Given the description of an element on the screen output the (x, y) to click on. 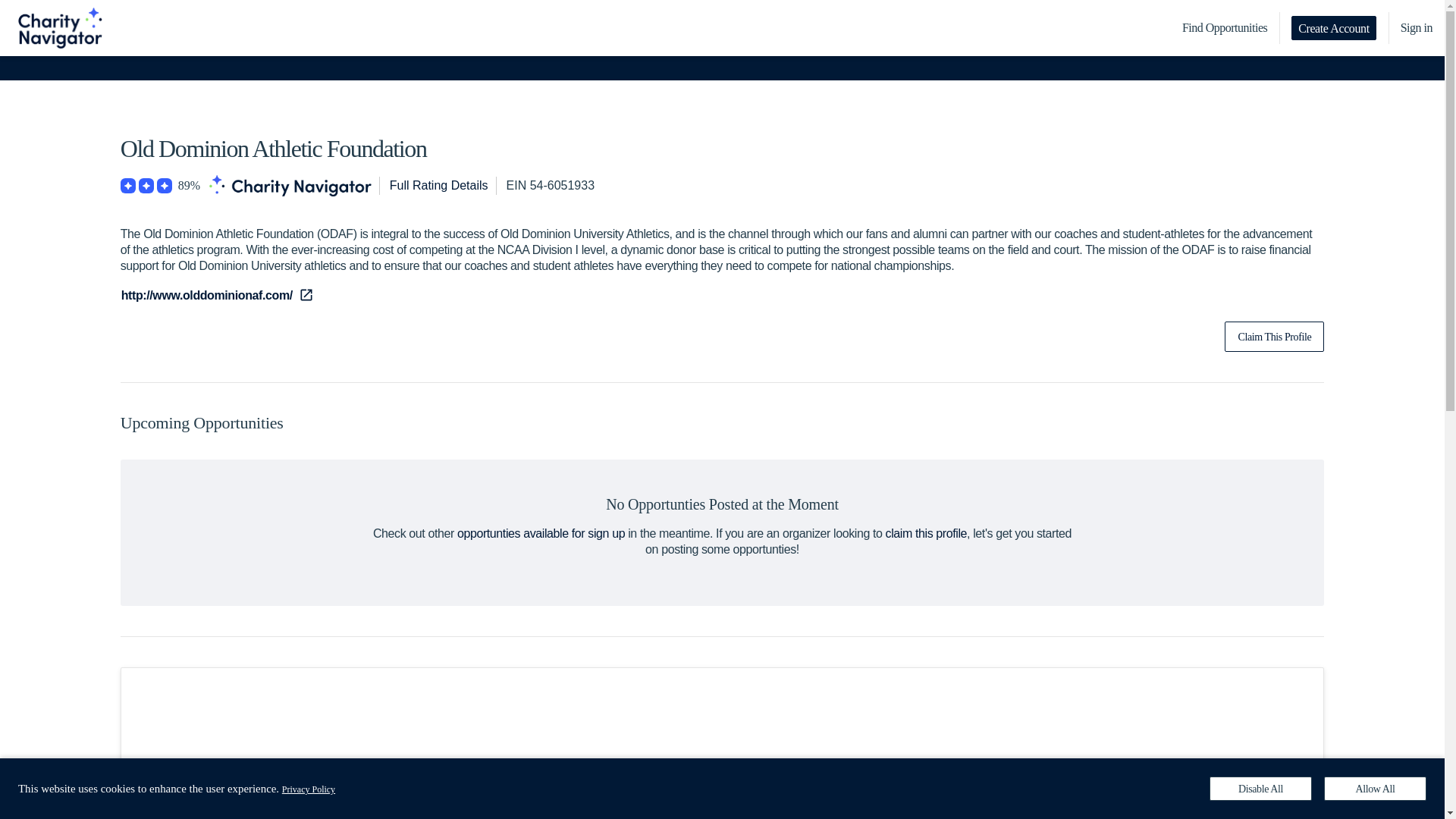
Disable All (1260, 788)
Find Opportunities (1224, 28)
claim this profile (926, 533)
Claim This Profile (1273, 336)
Create Account (1333, 27)
Privacy Policy (308, 788)
Allow All (1374, 788)
opportunties available for sign up (540, 533)
Full Rating Details (438, 185)
